Given the description of an element on the screen output the (x, y) to click on. 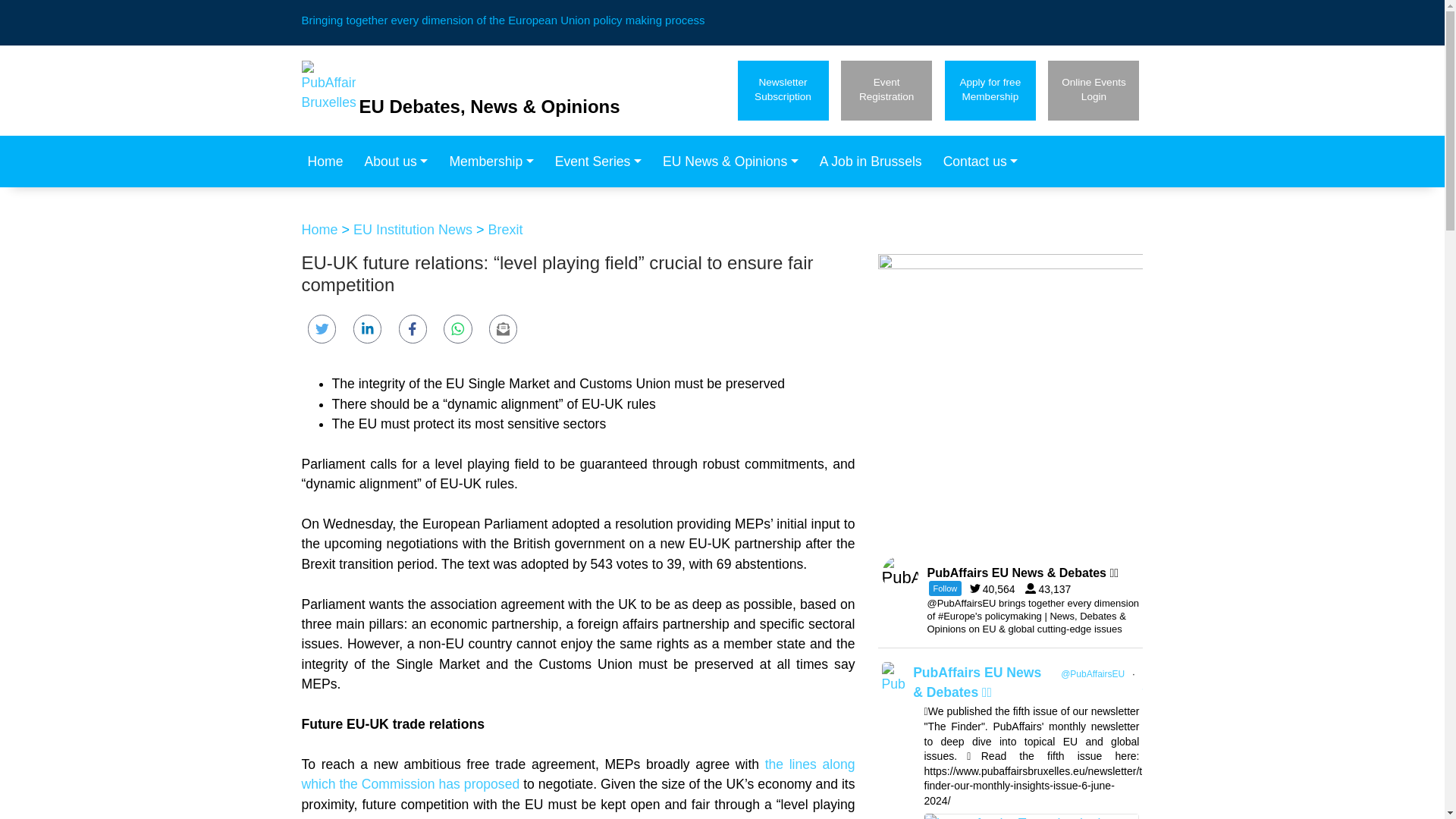
Membership (886, 90)
Event Series (989, 90)
Home (1093, 90)
About us (495, 161)
40,564 Tweets (602, 161)
43,137 Followers (329, 161)
